Given the description of an element on the screen output the (x, y) to click on. 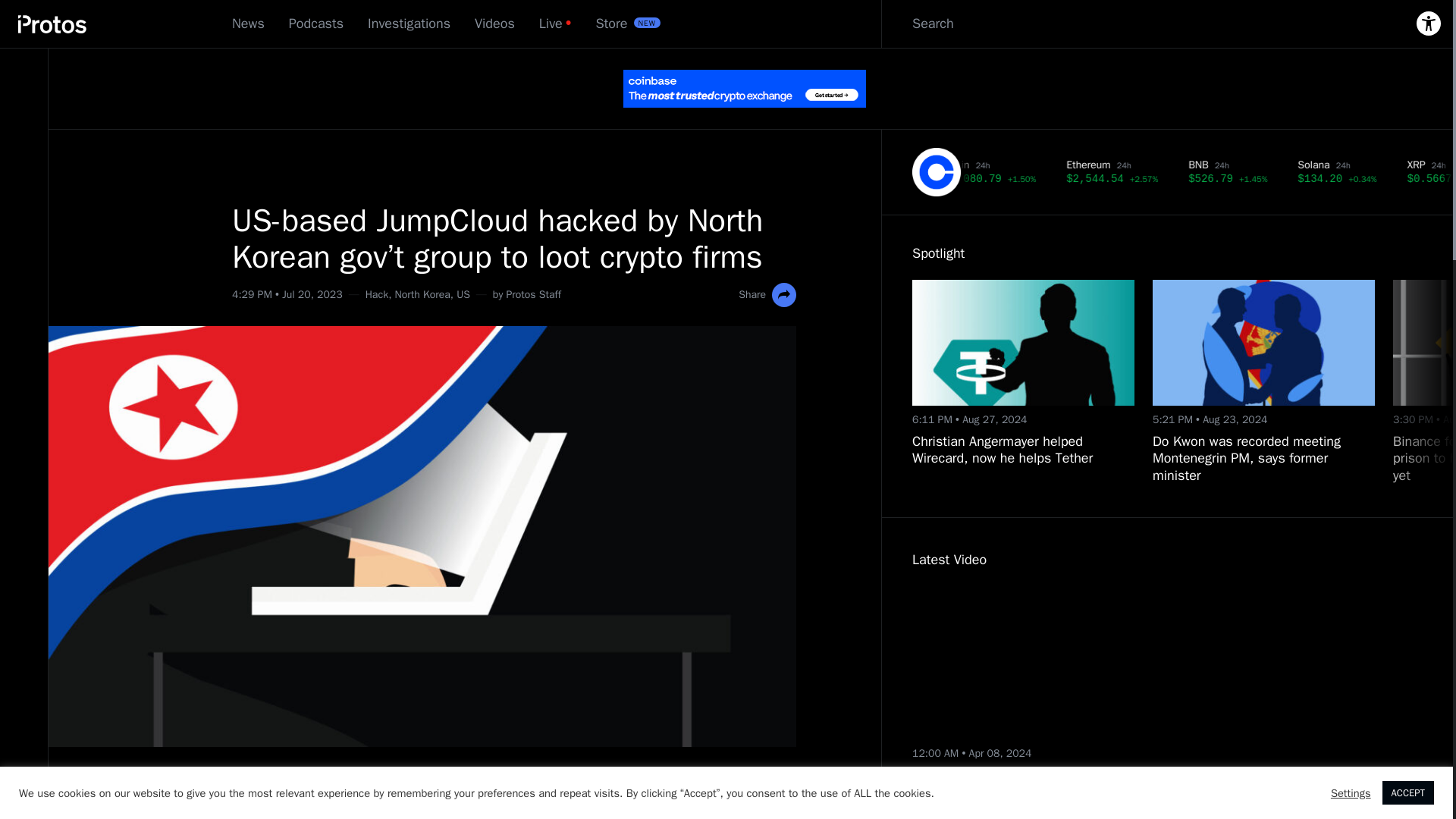
Protos Staff (532, 294)
Podcasts (315, 23)
YouTube video player (1051, 662)
North Korea (421, 294)
Investigations (408, 23)
Hack (376, 294)
